Given the description of an element on the screen output the (x, y) to click on. 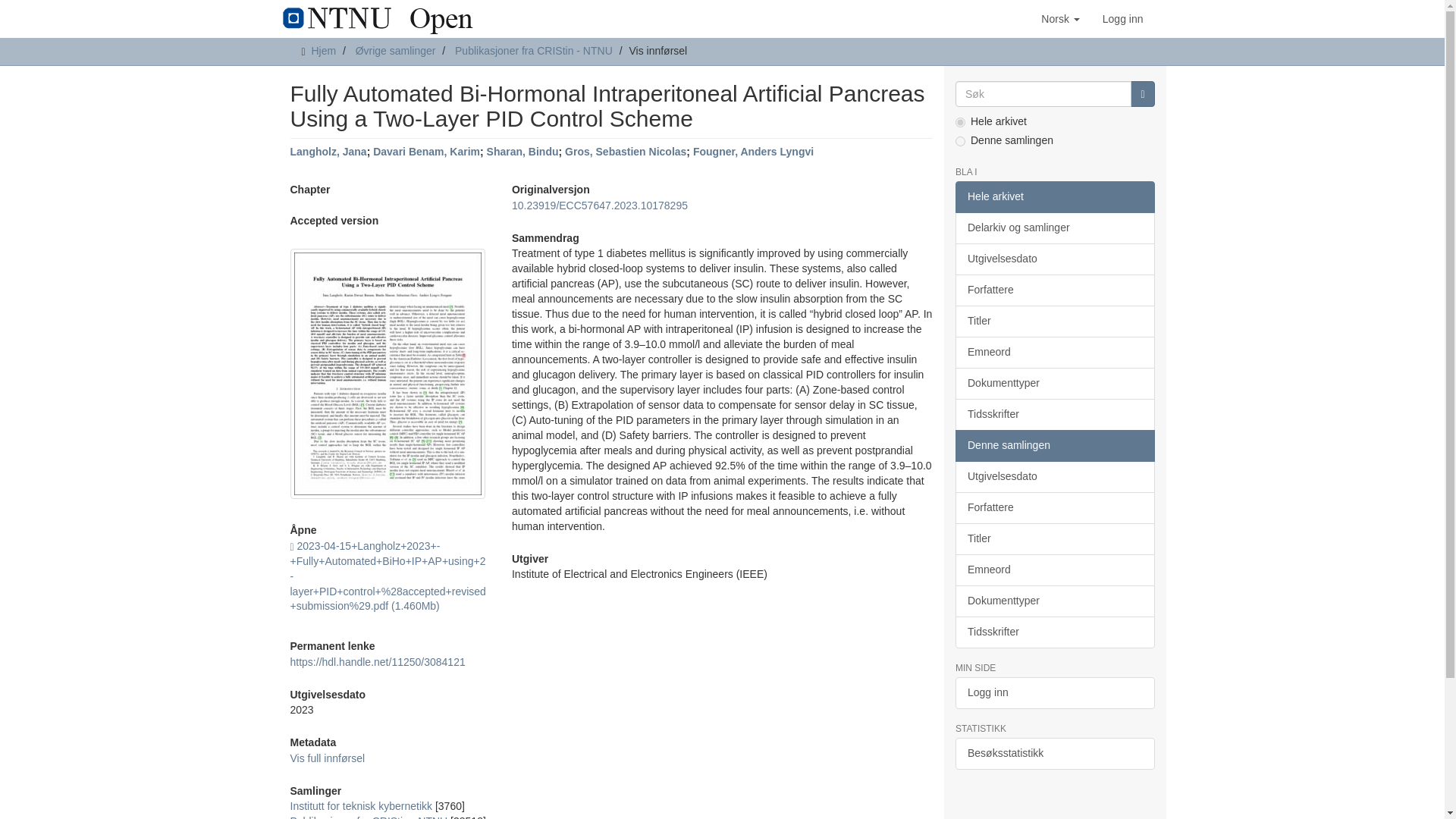
Publikasjoner fra CRIStin - NTNU (367, 816)
Logg inn (1122, 18)
Institutt for teknisk kybernetikk (360, 806)
Hjem (323, 50)
Norsk  (1059, 18)
Sharan, Bindu (522, 151)
Fougner, Anders Lyngvi (753, 151)
Gros, Sebastien Nicolas (624, 151)
Davari Benam, Karim (426, 151)
Langholz, Jana (327, 151)
